Given the description of an element on the screen output the (x, y) to click on. 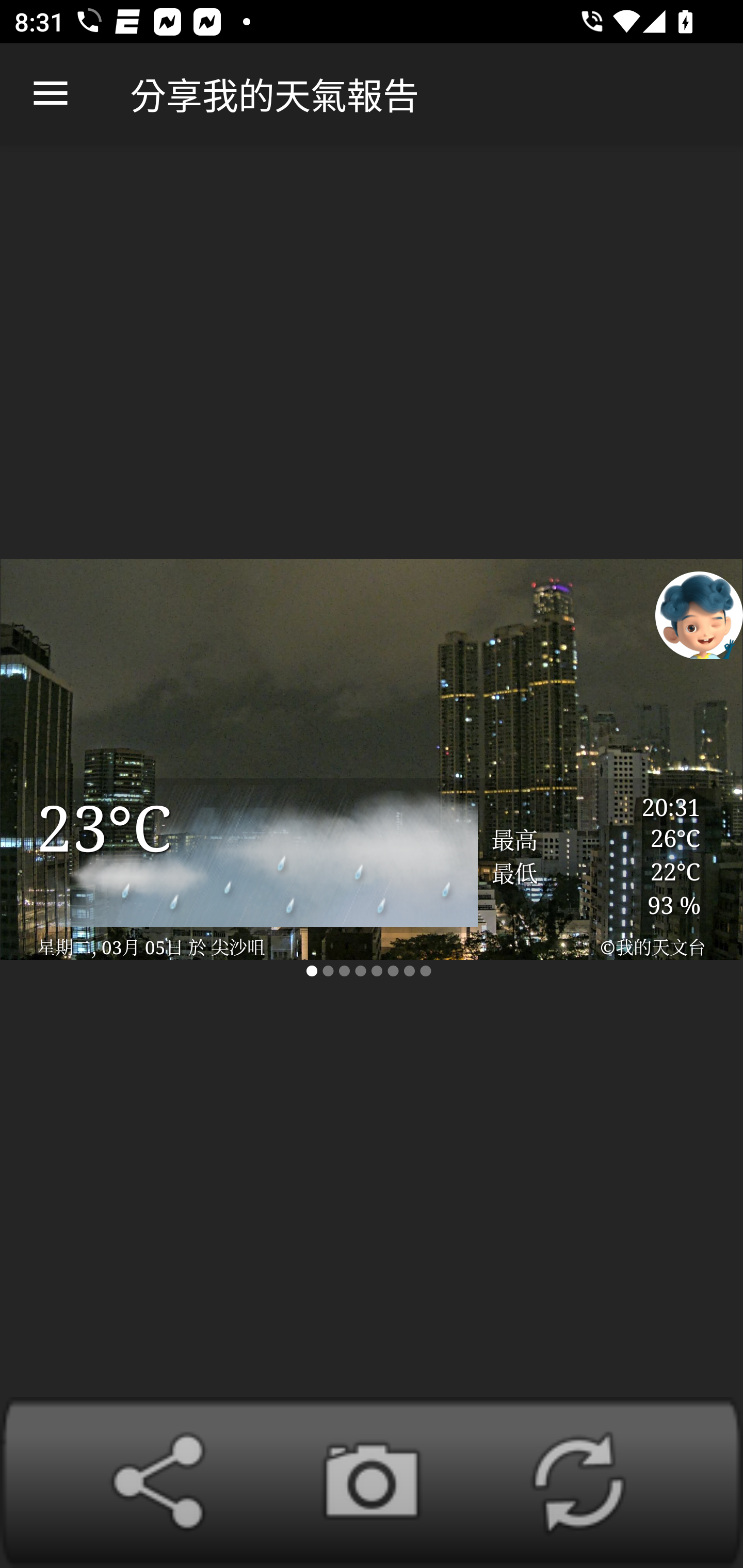
向上瀏覽 (50, 93)
聊天機械人 (699, 614)
分享 (164, 1482)
拍攝 (371, 1482)
重新整理 (577, 1482)
